Given the description of an element on the screen output the (x, y) to click on. 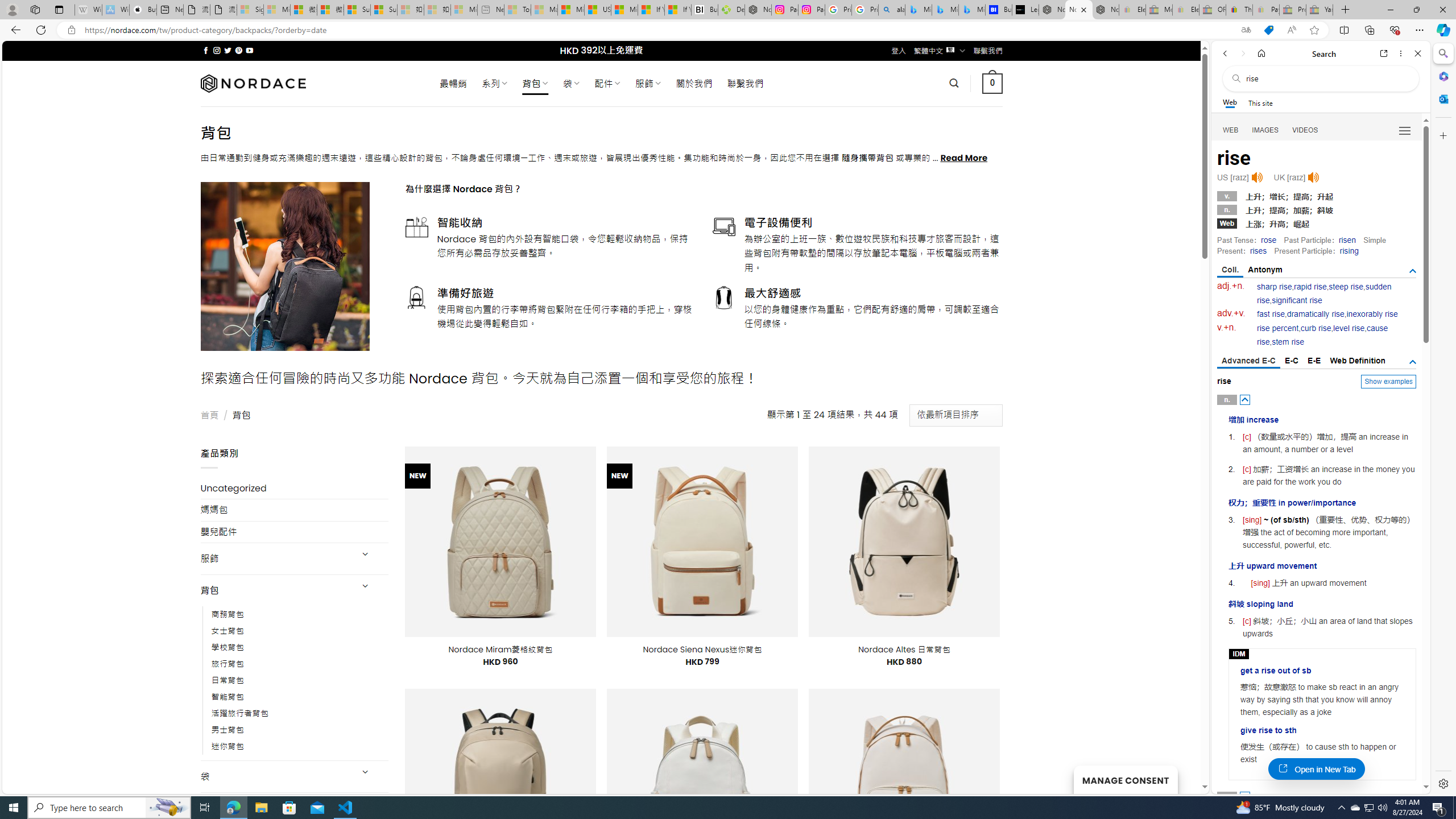
Descarga Driver Updater (731, 9)
E-C (1291, 360)
rises (1257, 250)
Top Stories - MSN - Sleeping (517, 9)
Wikipedia - Sleeping (87, 9)
cause rise (1322, 335)
Follow on Instagram (216, 50)
